Given the description of an element on the screen output the (x, y) to click on. 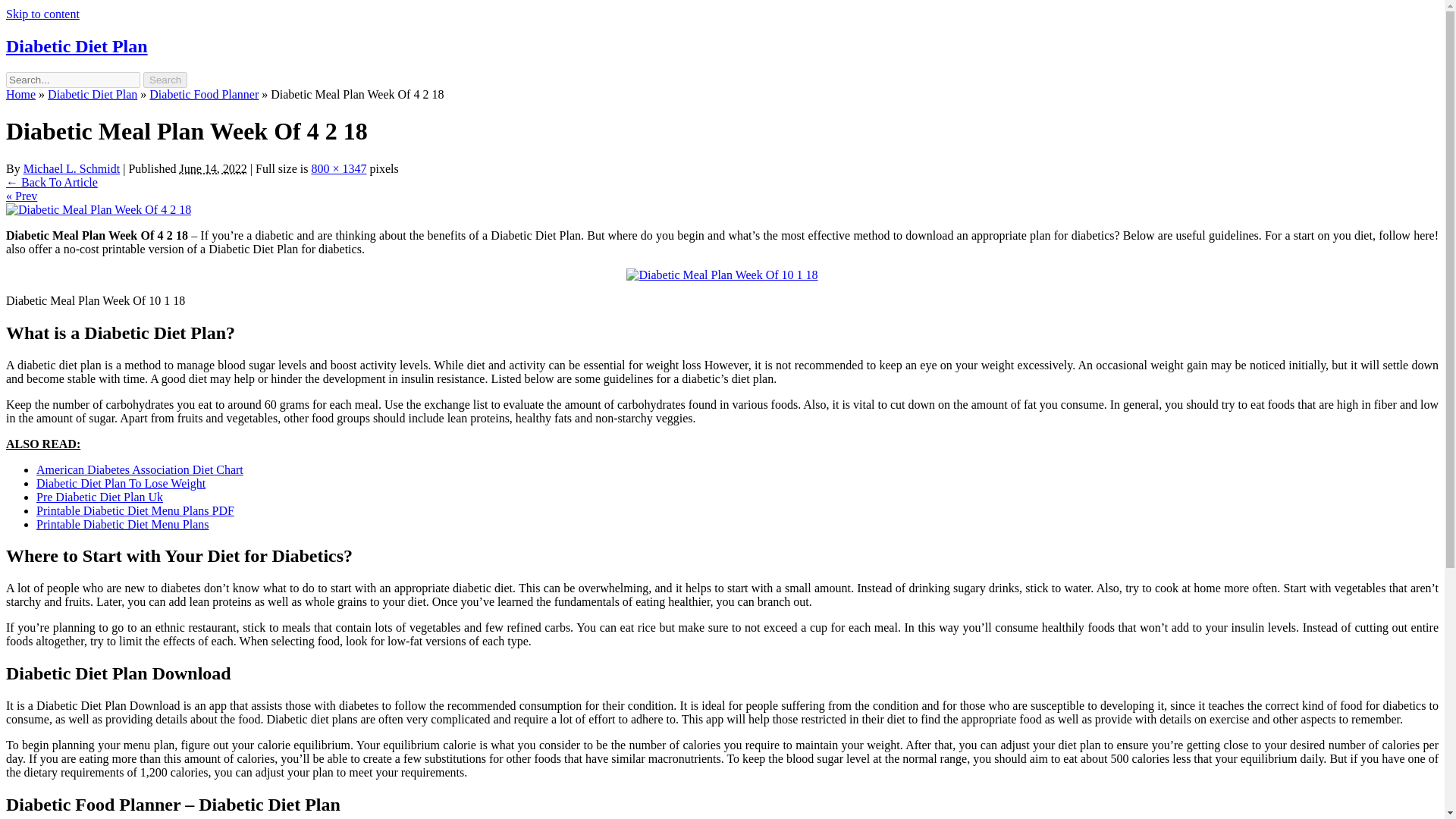
Michael L. Schmidt (71, 168)
Diabetic Diet Plan To Lose Weight (120, 481)
Printable Diabetic Diet Menu Plans PDF (135, 509)
Skip to content (42, 13)
Search for: (72, 79)
Search (164, 79)
Search (164, 79)
Diabetic Diet Plan (76, 46)
American Diabetes Association Diet Chart (139, 468)
Diabetic Food Planner (204, 93)
Diabetic Meal Plan Week Of 4 2 18 (97, 209)
Printable Diabetic Diet Menu Plans (122, 522)
5:15 pm (213, 168)
Diabetic Diet Plan (92, 93)
Link to full-size image (338, 168)
